Given the description of an element on the screen output the (x, y) to click on. 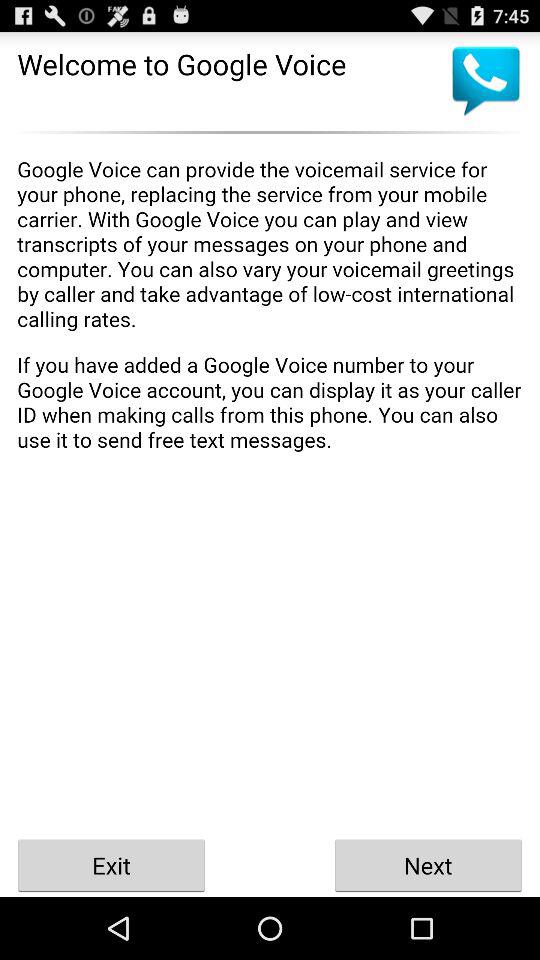
click the icon at the center (269, 487)
